Given the description of an element on the screen output the (x, y) to click on. 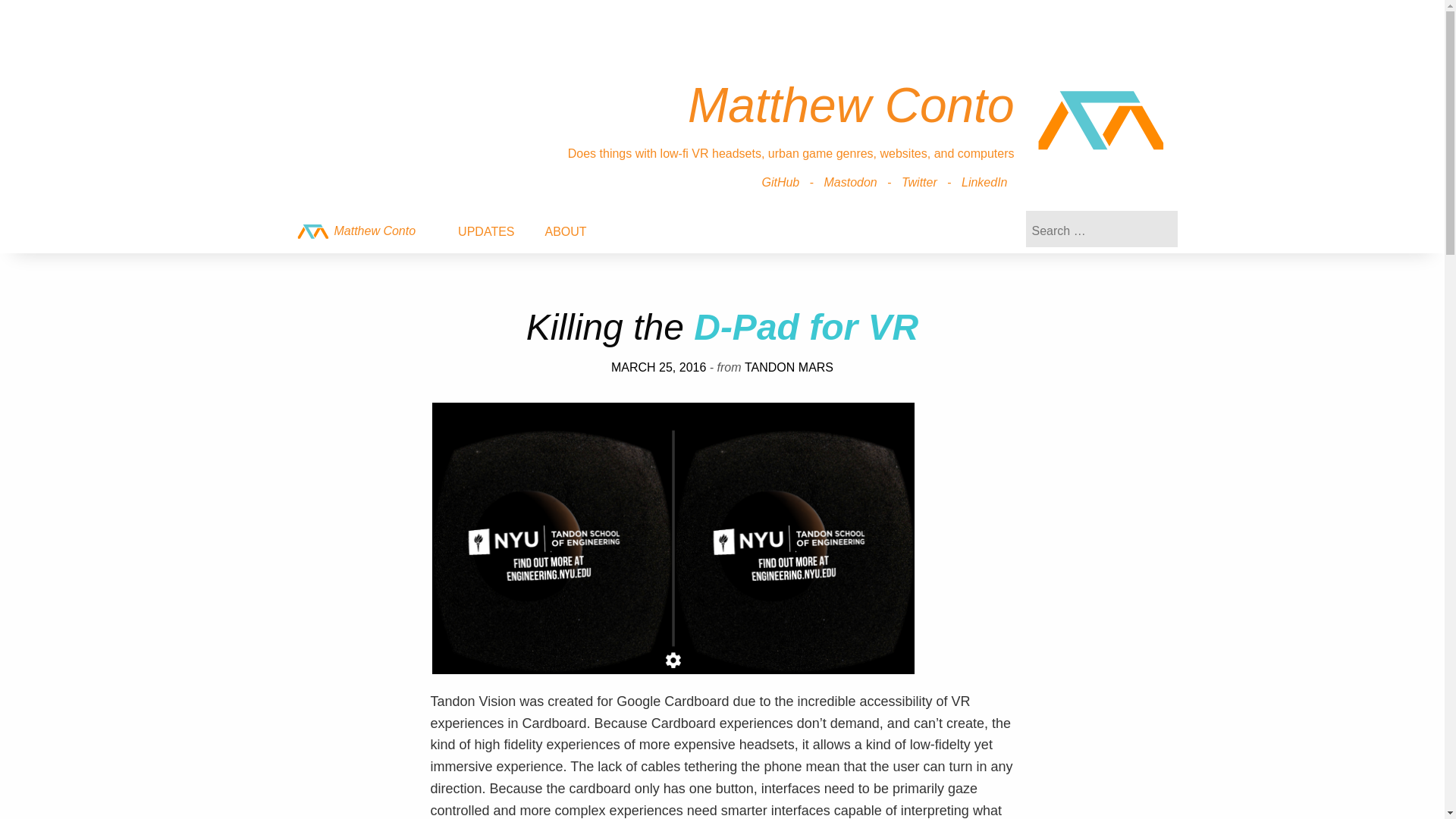
TANDON MARS (788, 367)
Twitter (919, 182)
LinkedIn (984, 182)
Mastodon (849, 182)
Matthew Conto (1101, 120)
GitHub (780, 182)
ABOUT (565, 231)
Search (75, 9)
Matthew Conto (354, 230)
UPDATES (485, 231)
Matthew Conto (354, 230)
MARCH 25, 2016 (658, 367)
